Given the description of an element on the screen output the (x, y) to click on. 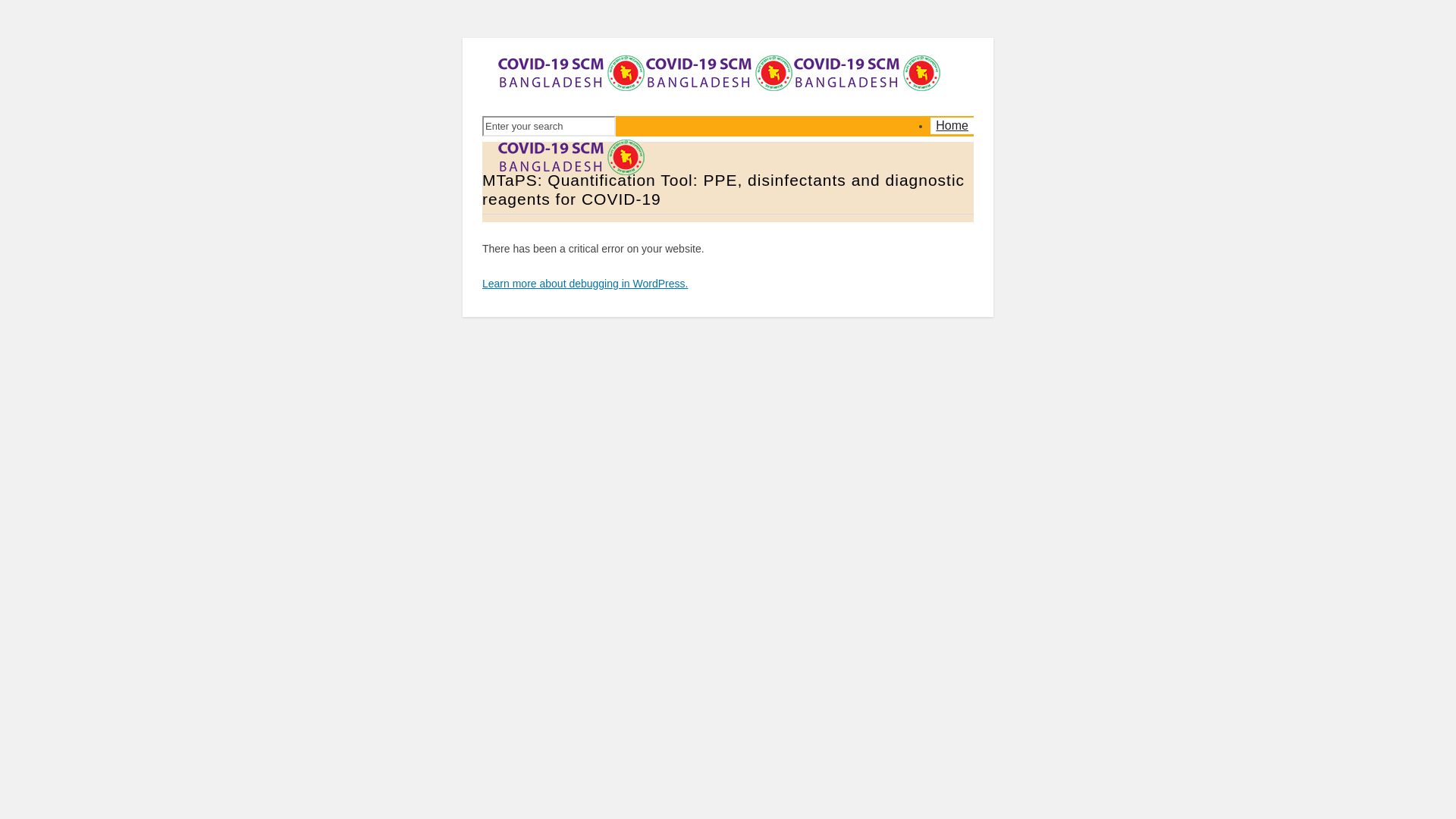
COVID-19 SCM Bangladesh Element type: hover (719, 139)
Learn more about debugging in WordPress. Element type: text (584, 283)
Home Element type: text (951, 125)
